Given the description of an element on the screen output the (x, y) to click on. 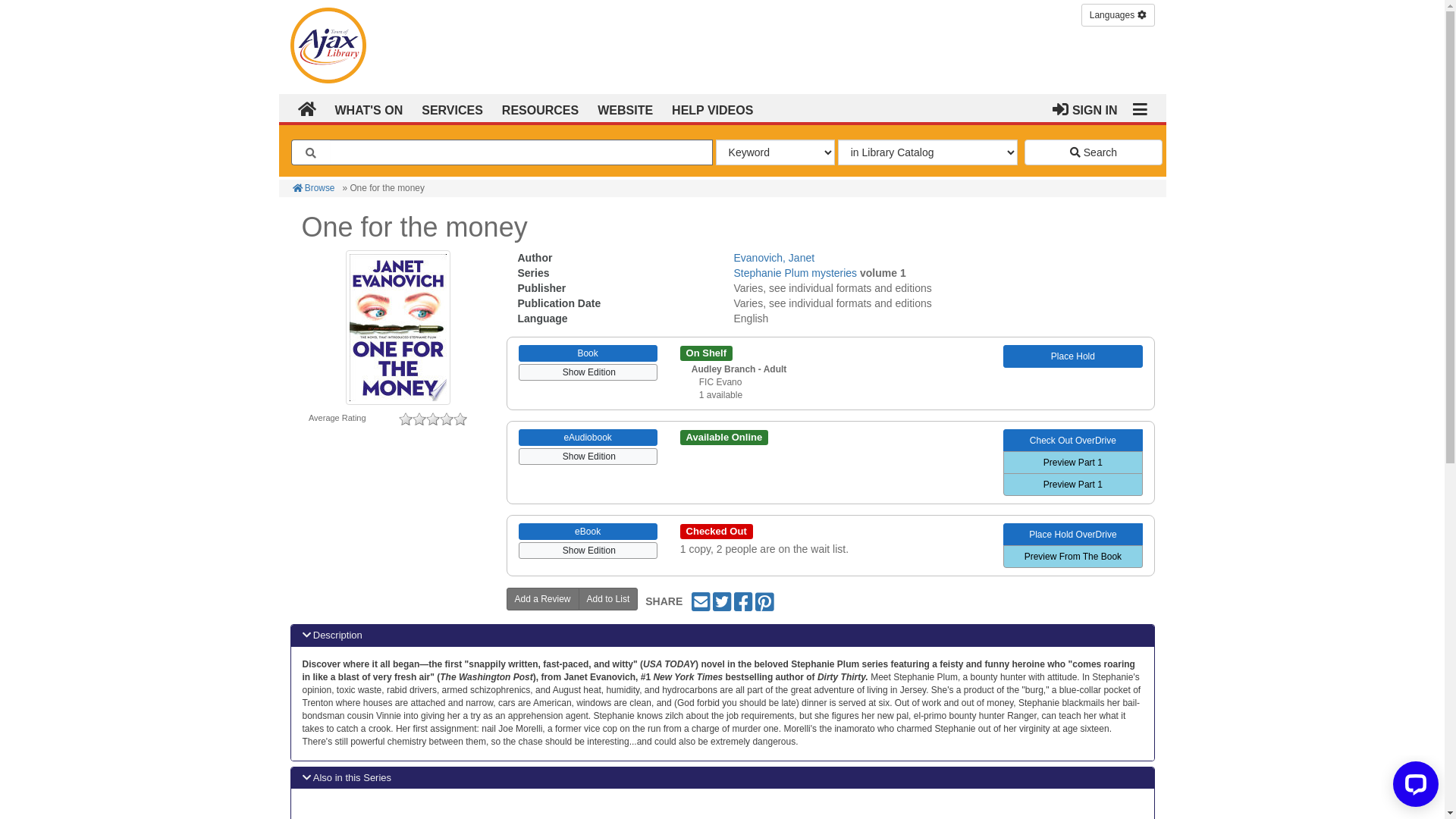
Evanovich, Janet Element type: text (773, 257)
Add to List Element type: text (608, 598)
Description Element type: text (722, 635)
RESOURCES Element type: text (538, 108)
SERVICES Element type: text (450, 108)
Browse Element type: text (313, 187)
 Show Edition Element type: text (587, 548)
WHAT'S ON Element type: text (367, 108)
Preview Part 1 Element type: text (1072, 462)
 Show Edition Element type: text (587, 370)
Stephanie Plum mysteries Element type: text (794, 272)
Place Hold Element type: text (1072, 356)
Preview Part 1 Element type: text (1072, 484)
Preview From The Book Element type: text (1072, 556)
eAudiobook Element type: text (587, 437)
Check Out OverDrive Element type: text (1072, 440)
Place Hold OverDrive Element type: text (1072, 534)
Share on Twitter Element type: hover (721, 601)
WEBSITE Element type: text (622, 108)
Show Menu Element type: hover (1139, 108)
Also in this Series Element type: text (722, 778)
Languages  Element type: text (1117, 14)
Share on Facebook Element type: hover (742, 601)
Return to Catalog Home Element type: hover (331, 41)
eBook Element type: text (587, 531)
Share via email Element type: hover (700, 601)
Pin on Pinterest Element type: hover (764, 601)
Browse the Catalog Element type: hover (307, 108)
 Search Element type: text (1092, 152)
 Show Edition Element type: text (587, 454)
SIGN IN Element type: text (1084, 108)
HELP VIDEOS Element type: text (710, 108)
Add a Review Element type: text (542, 598)
Book Element type: text (587, 353)
